Given the description of an element on the screen output the (x, y) to click on. 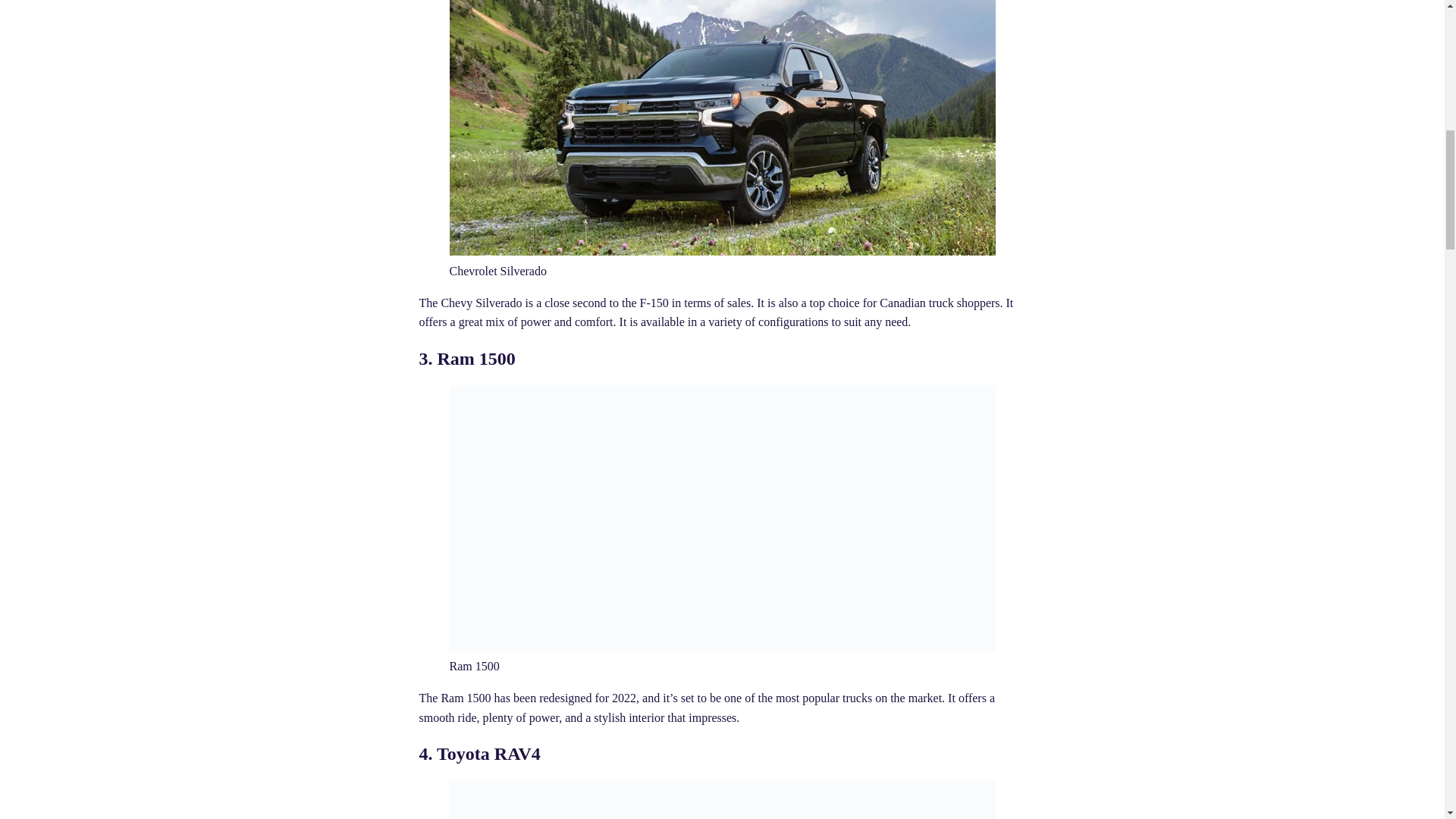
The 10 Best Selling Vehicles in Canada in 2022 3 (721, 800)
